Given the description of an element on the screen output the (x, y) to click on. 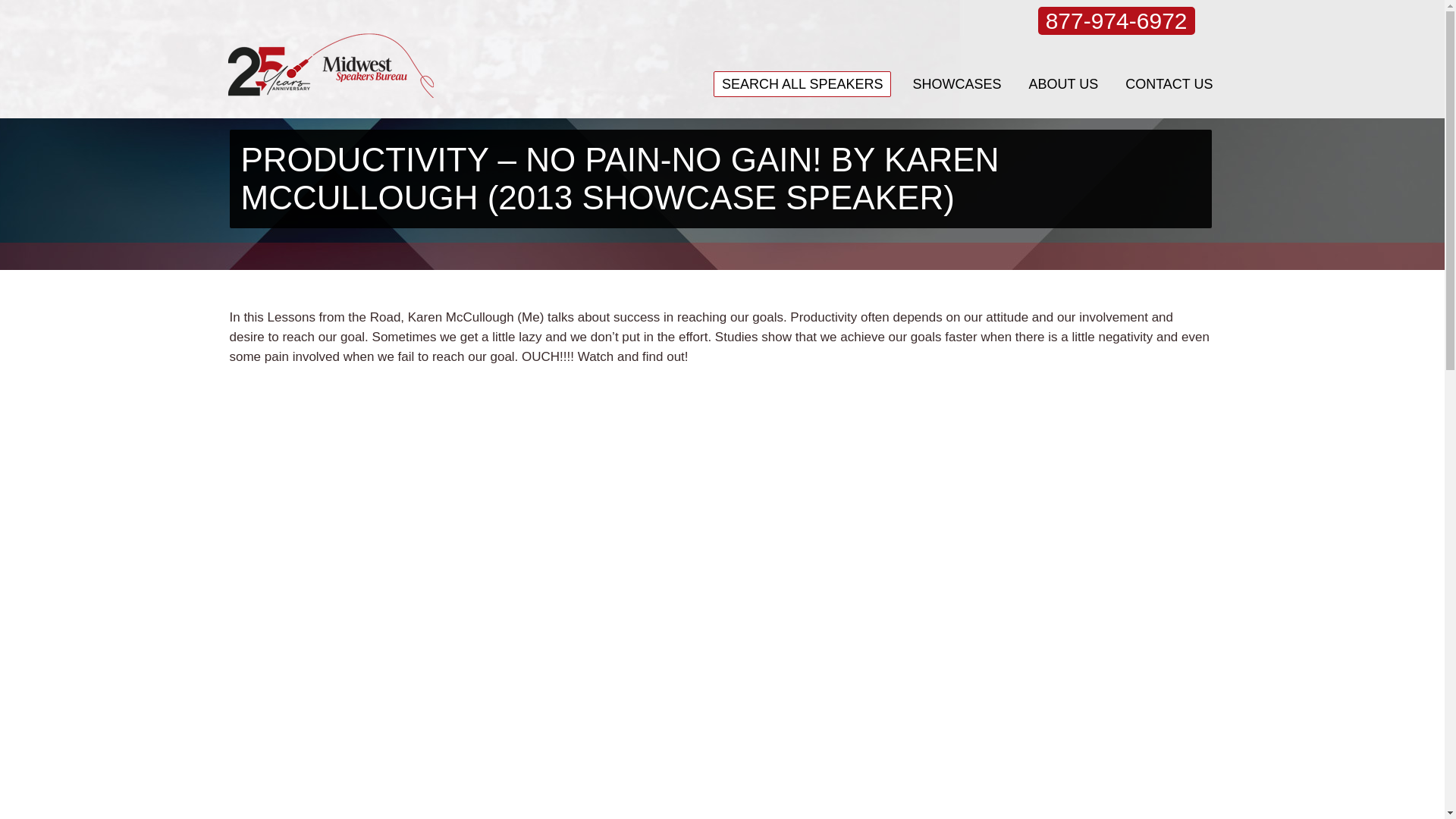
SHOWCASES (956, 83)
SEARCH ALL SPEAKERS (802, 84)
ABOUT US (1062, 83)
